Given the description of an element on the screen output the (x, y) to click on. 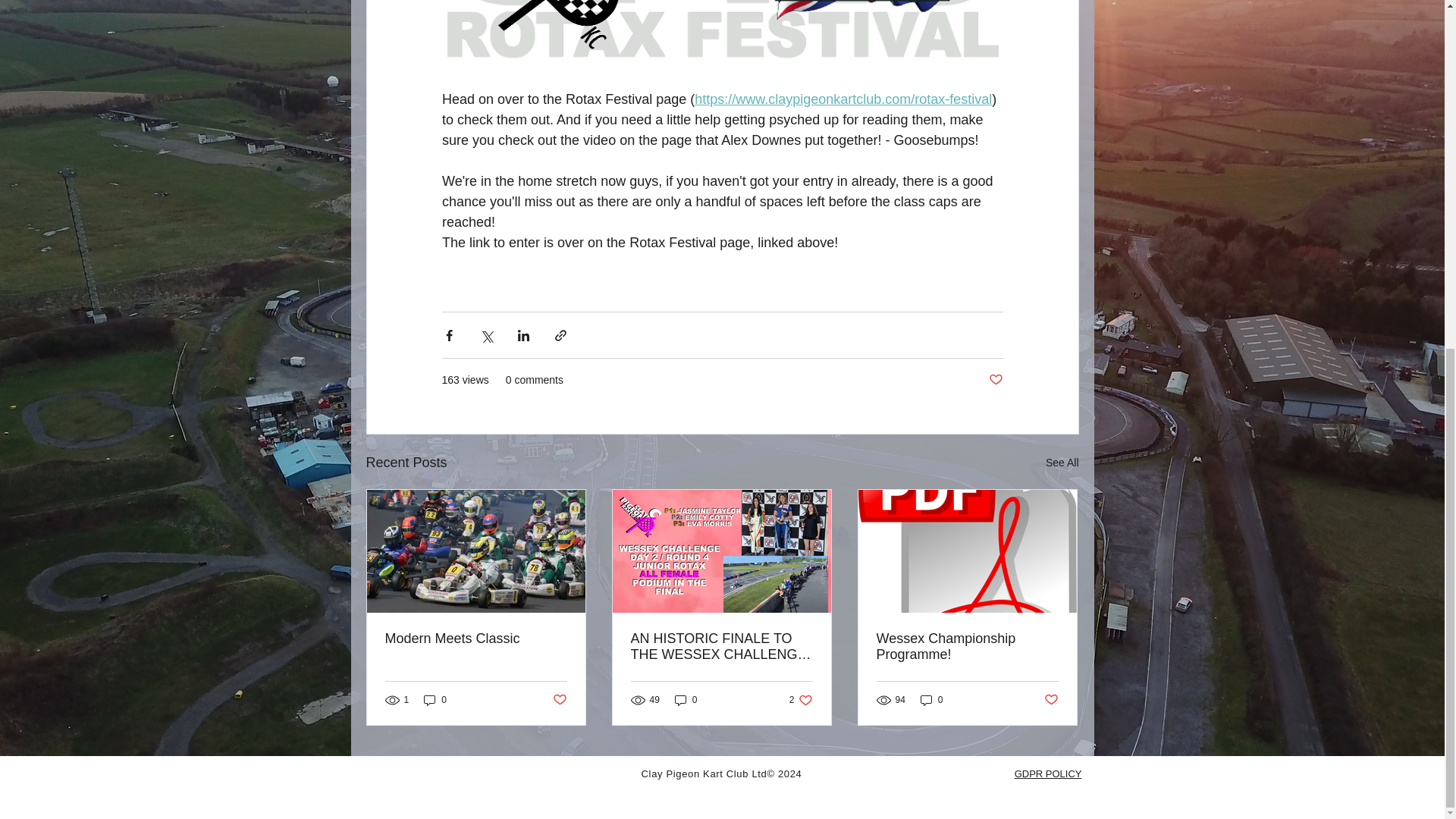
See All (1061, 463)
Post not marked as liked (995, 380)
Post not marked as liked (558, 700)
0 (435, 699)
Modern Meets Classic (476, 638)
